Given the description of an element on the screen output the (x, y) to click on. 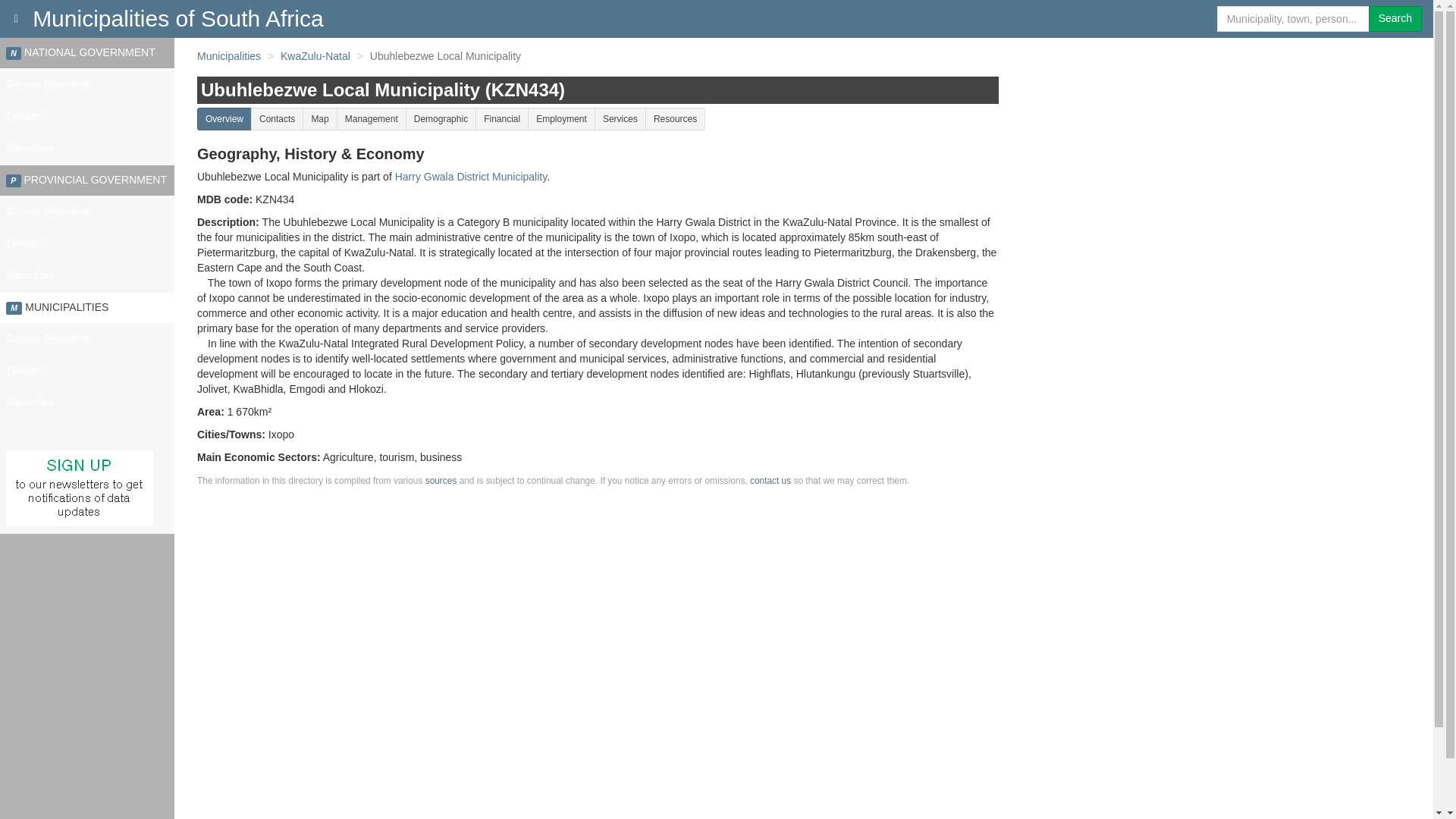
Vacancies (87, 148)
Management (371, 118)
Tenders (87, 244)
Employment (561, 118)
M MUNICIPALITIES (87, 307)
Financial (502, 118)
Tenders (87, 371)
Service Providers (87, 212)
Service Providers (87, 84)
Overview (223, 118)
